Given the description of an element on the screen output the (x, y) to click on. 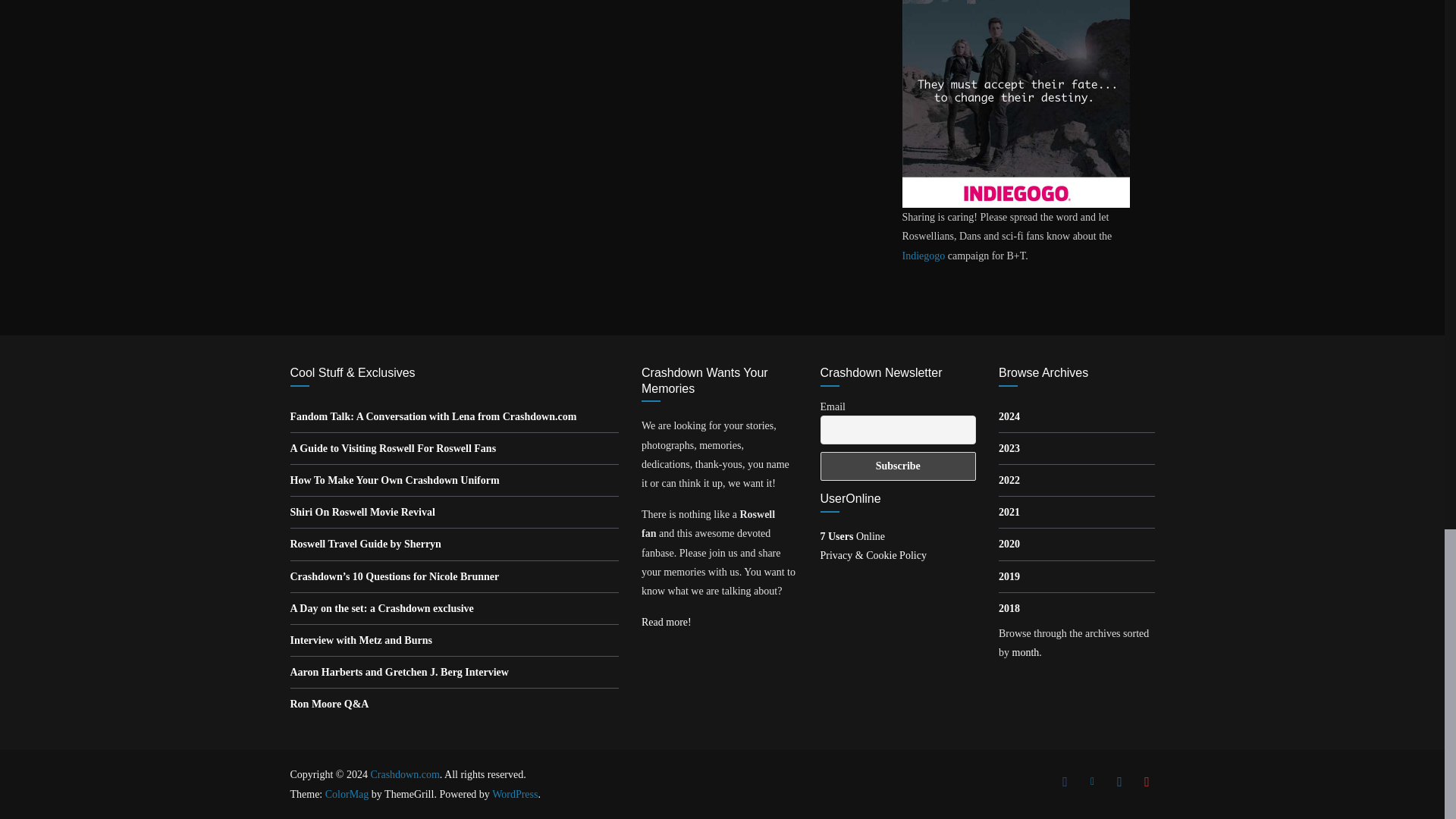
Crashdown.com (404, 774)
Opens in a new window (432, 416)
ColorMag (346, 794)
Subscribe (898, 466)
7 Users (853, 536)
